Given the description of an element on the screen output the (x, y) to click on. 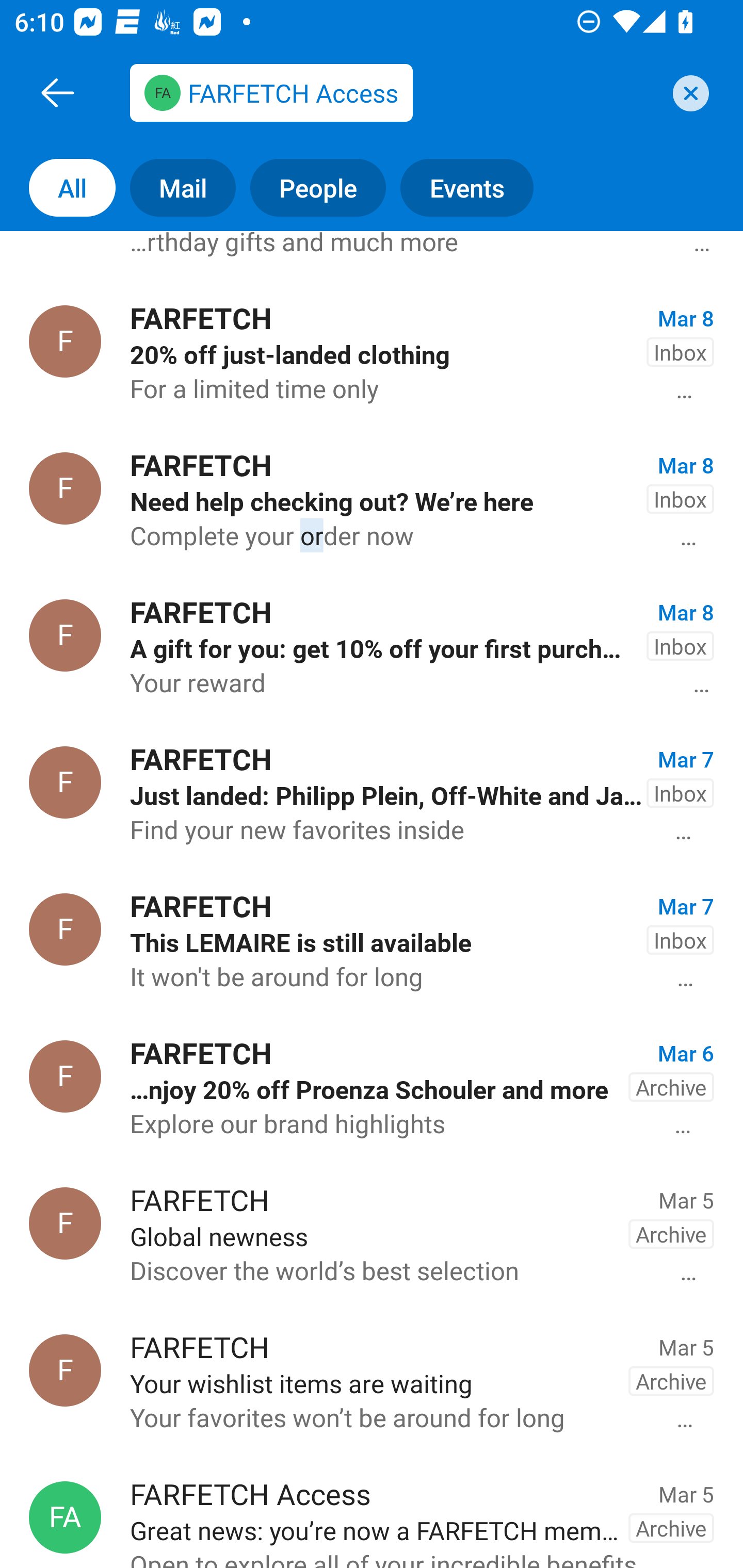
Back (57, 92)
farfetch@email.farfetch.com  (394, 92)
clear search (687, 93)
Mail (175, 187)
People (310, 187)
Events (473, 187)
